Given the description of an element on the screen output the (x, y) to click on. 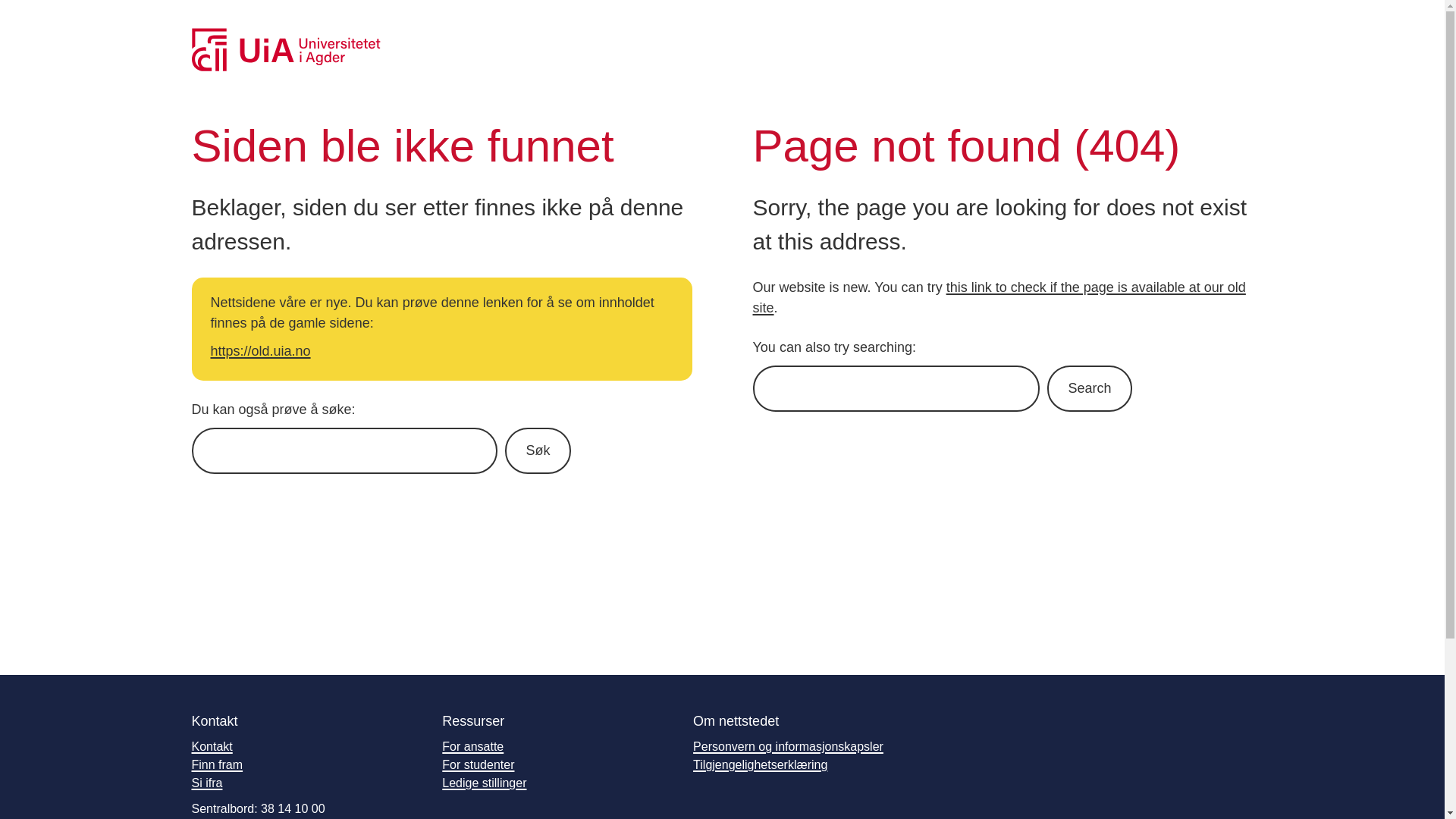
Kontakt (210, 746)
Search (1088, 388)
For studenter (477, 764)
Si ifra (206, 782)
Finn fram (216, 764)
For ansatte (472, 746)
Personvern og informasjonskapsler (788, 746)
Ledige stillinger (483, 782)
this link to check if the page is available at our old site (998, 297)
